Given the description of an element on the screen output the (x, y) to click on. 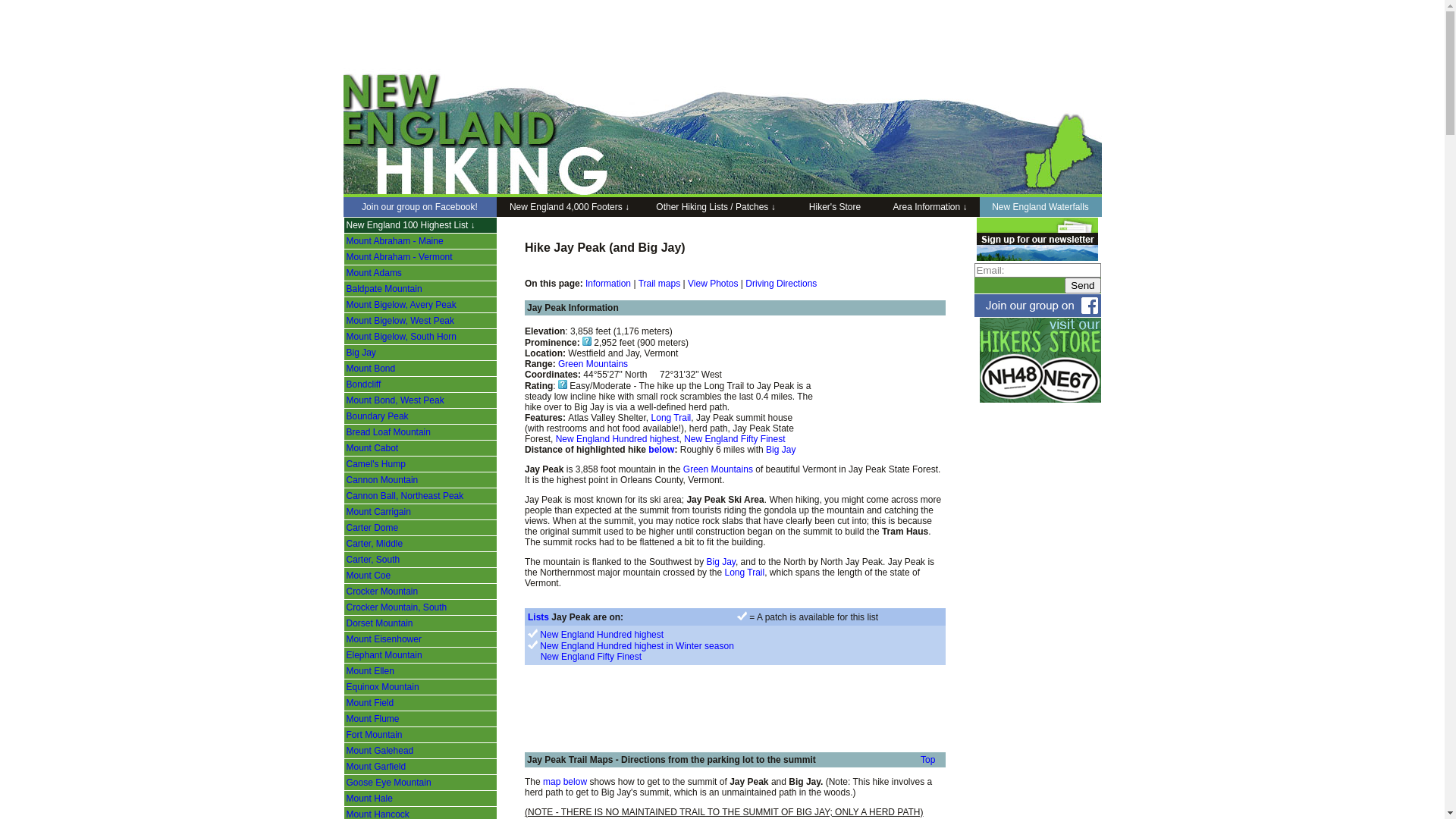
Mount Bigelow, West Peak Element type: text (399, 320)
Mount Bond, West Peak Element type: text (394, 400)
Mount Abraham - Maine Element type: text (393, 240)
New England Fifty Finest Element type: text (590, 656)
Equinox Mountain Element type: text (381, 686)
Top Element type: text (927, 759)
Mount Bond Element type: text (370, 368)
Elephant Mountain Element type: text (383, 654)
New England Hundred highest in Winter season Element type: text (635, 645)
Crocker Mountain, South Element type: text (395, 607)
Green Mountains Element type: text (592, 363)
Big Jay Element type: text (360, 352)
New England Hundred highest Element type: text (617, 438)
Advertisement Element type: hover (763, 42)
Mount Galehead Element type: text (379, 750)
View Photos Element type: text (712, 283)
map below Element type: text (564, 781)
Green Mountains Element type: text (718, 469)
Mount Cabot Element type: text (371, 447)
Cannon Ball, Northeast Peak Element type: text (404, 495)
Join our group on Facebook! Element type: text (418, 206)
New England Hundred highest Element type: text (601, 634)
Mount Bigelow, South Horn Element type: text (400, 336)
Bondcliff Element type: text (362, 384)
Goose Eye Mountain Element type: text (387, 782)
      Element type: text (533, 656)
New England Waterfalls Element type: text (1040, 206)
Big Jay Element type: text (780, 449)
Mount Ellen Element type: text (369, 670)
Mount Hale Element type: text (368, 798)
Long Trail Element type: text (671, 417)
Long Trail Element type: text (744, 572)
New England Fifty Finest Element type: text (734, 438)
Carter, South Element type: text (372, 559)
Crocker Mountain Element type: text (381, 591)
Mount Coe Element type: text (367, 575)
Driving Directions Element type: text (780, 283)
Camel's Hump Element type: text (374, 463)
Carter Dome Element type: text (371, 527)
Trail maps Element type: text (659, 283)
Fort Mountain Element type: text (373, 734)
Bread Loaf Mountain Element type: text (387, 431)
Send Element type: text (1082, 285)
Mount Field Element type: text (369, 702)
Big Jay Element type: text (720, 561)
Dorset Mountain Element type: text (378, 623)
Hiker's Store Element type: text (834, 206)
Mount Carrigain Element type: text (377, 511)
Mount Bigelow, Avery Peak Element type: text (400, 304)
Advertisement Element type: hover (701, 698)
Lists Element type: text (538, 616)
Baldpate Mountain Element type: text (383, 288)
Boundary Peak Element type: text (376, 416)
Mount Flume Element type: text (371, 718)
Cannon Mountain Element type: text (381, 479)
Carter, Middle Element type: text (373, 543)
Information Element type: text (607, 283)
Mount Abraham - Vermont Element type: text (398, 256)
Mount Adams Element type: text (373, 272)
Mount Eisenhower Element type: text (382, 638)
below Element type: text (661, 449)
Mount Garfield Element type: text (375, 766)
